Given the description of an element on the screen output the (x, y) to click on. 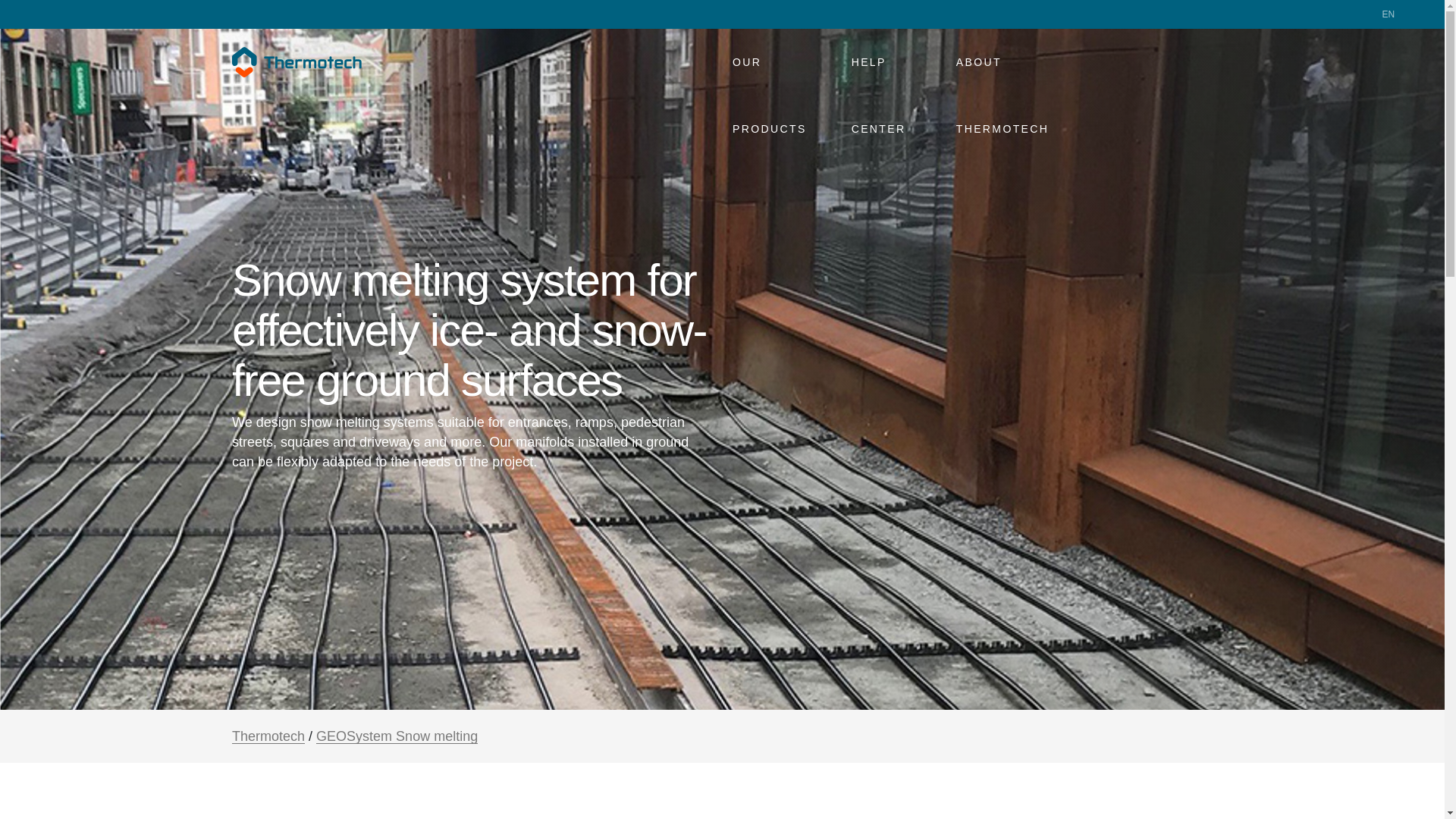
EN (1394, 14)
HELP CENTER (894, 61)
OUR PRODUCTS (782, 61)
ABOUT THERMOTECH (1021, 61)
